Given the description of an element on the screen output the (x, y) to click on. 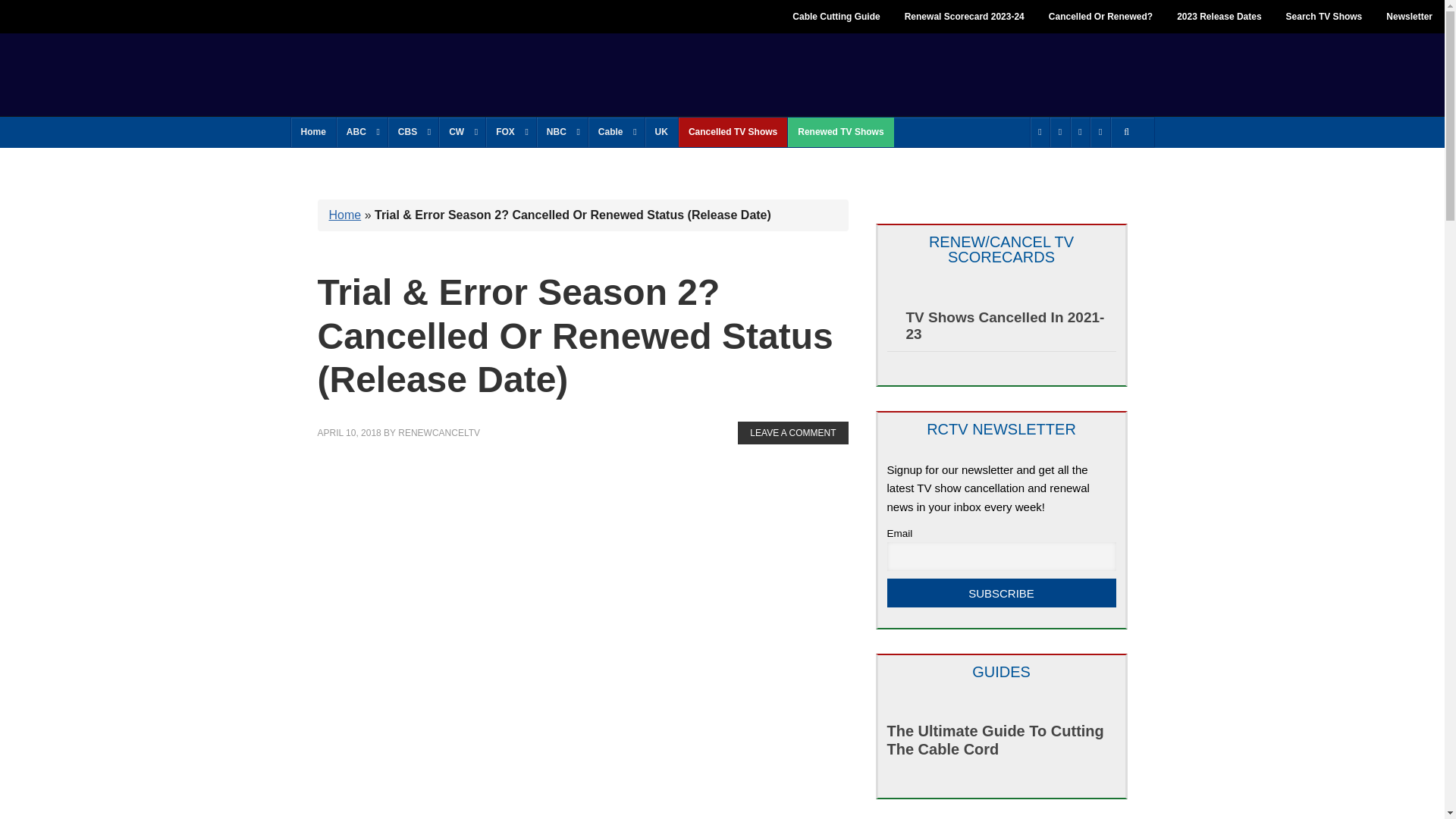
Home (313, 132)
CBS (412, 132)
Search TV Shows (1324, 16)
Cancelled Or Renewed? (1100, 16)
Renewal Scorecard 2023-24 (964, 16)
Cable Cutting Guide (835, 16)
RENEWCANCELTV (401, 73)
ABC (361, 132)
2023 Release Dates (1218, 16)
Subscribe (1001, 592)
